Given the description of an element on the screen output the (x, y) to click on. 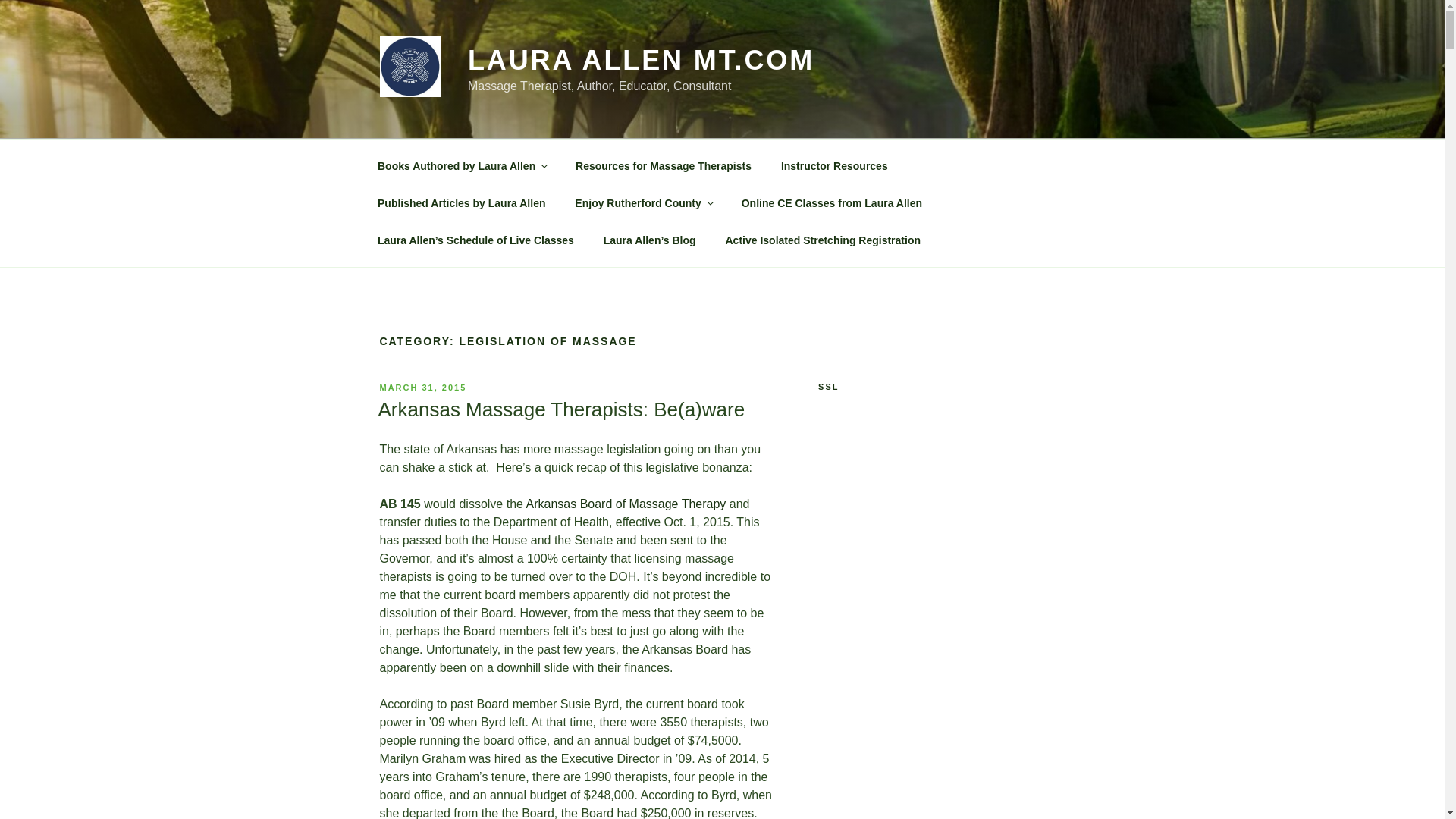
Active Isolated Stretching Registration (822, 239)
Enjoy Rutherford County (643, 203)
Resources for Massage Therapists (663, 165)
Arkansas Board of Massage Therapy (627, 503)
Published Articles by Laura Allen (460, 203)
Books Authored by Laura Allen (461, 165)
Arkansas Board of Massage Therapy (627, 503)
Instructor Resources (834, 165)
LAURA ALLEN MT.COM (640, 60)
MARCH 31, 2015 (421, 387)
